Given the description of an element on the screen output the (x, y) to click on. 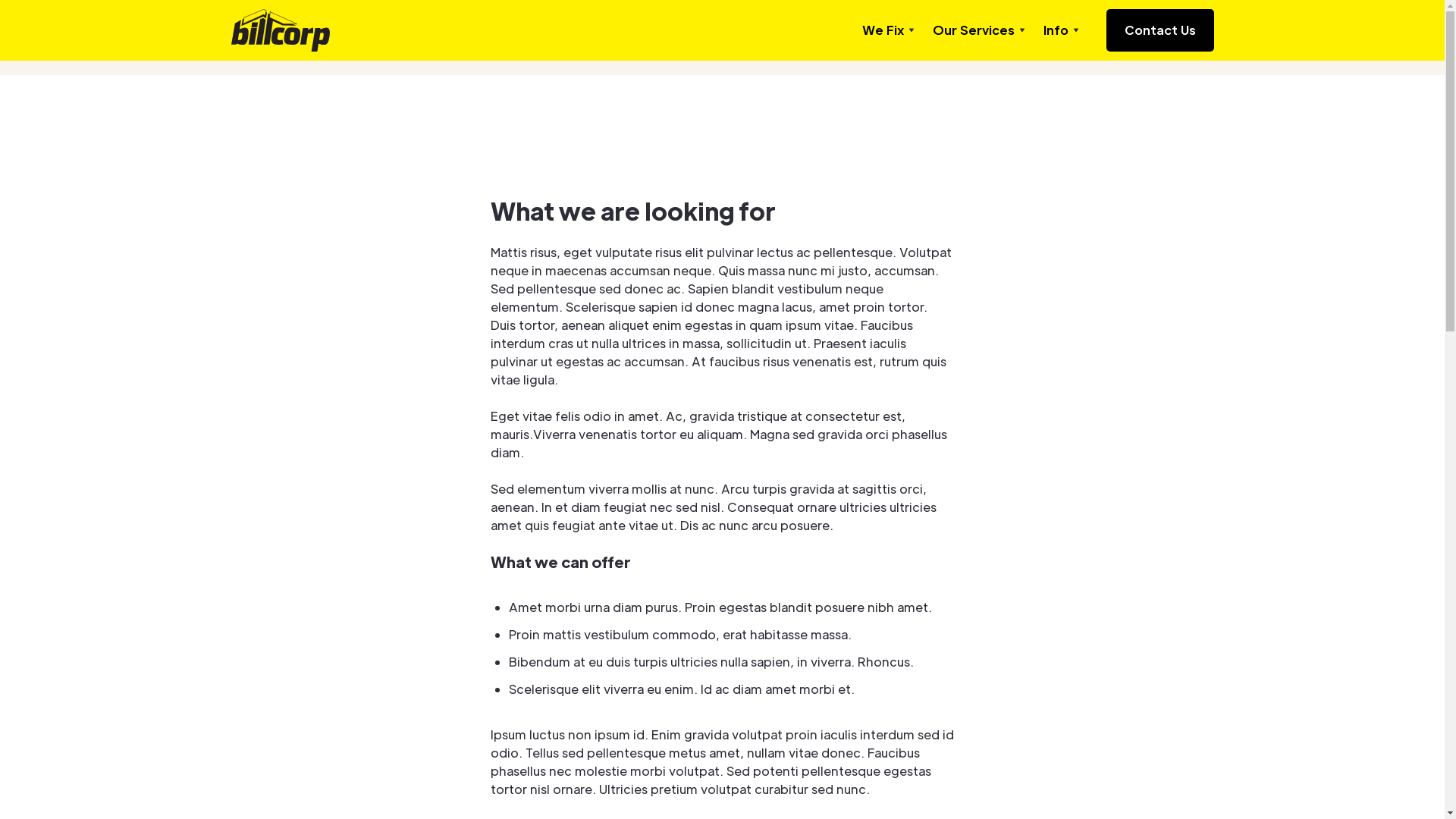
Apply Now Element type: text (1172, 37)
Contact Us Element type: text (1159, 30)
